Given the description of an element on the screen output the (x, y) to click on. 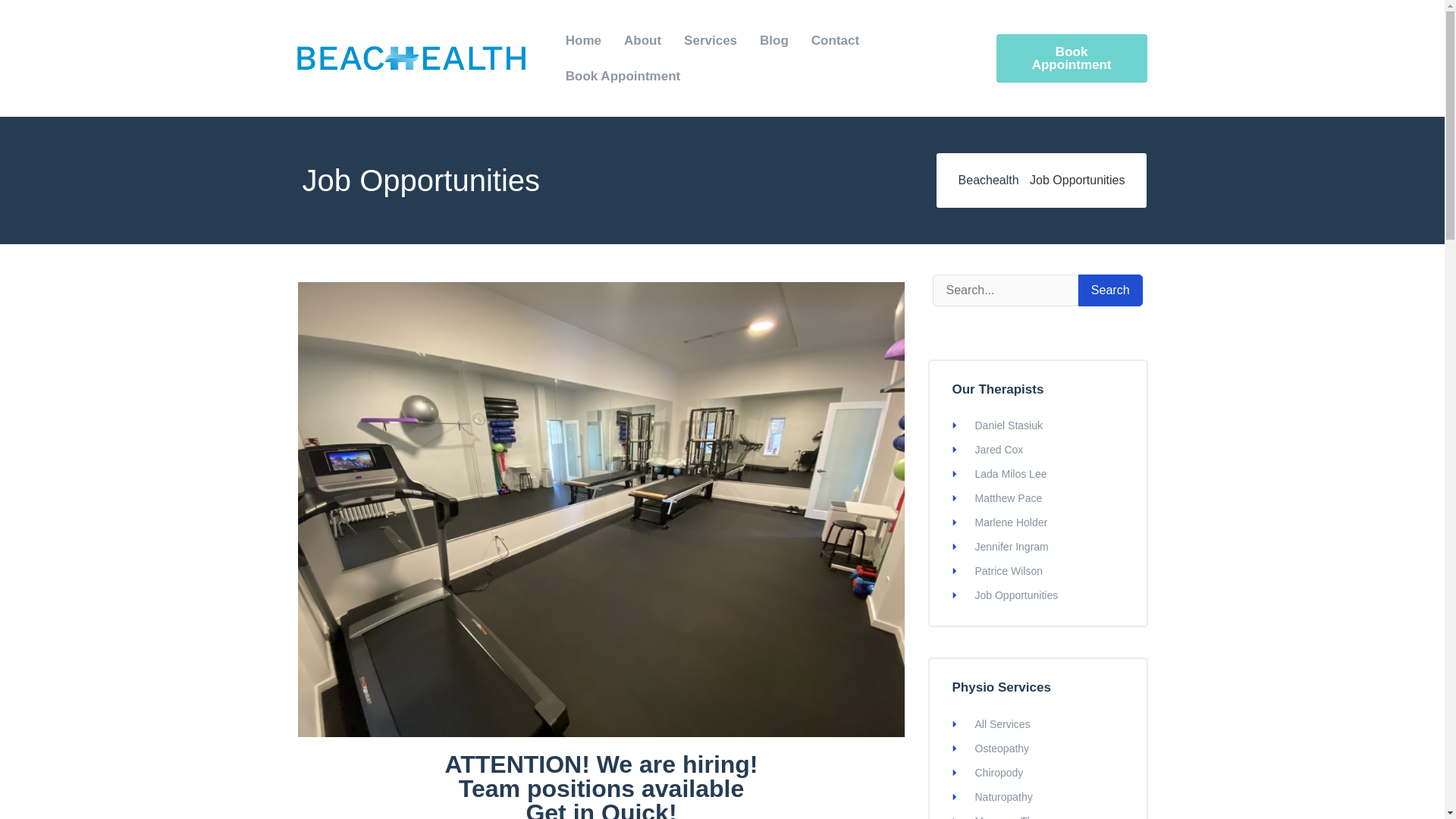
Beachealth (988, 179)
All Services (1002, 724)
Job Opportunities (1016, 594)
Daniel Stasiuk (1009, 425)
Services (710, 40)
Massage Therapy (1017, 816)
Blog (773, 40)
Search (1110, 290)
Beachealth (988, 179)
Naturopathy (1003, 797)
